Given the description of an element on the screen output the (x, y) to click on. 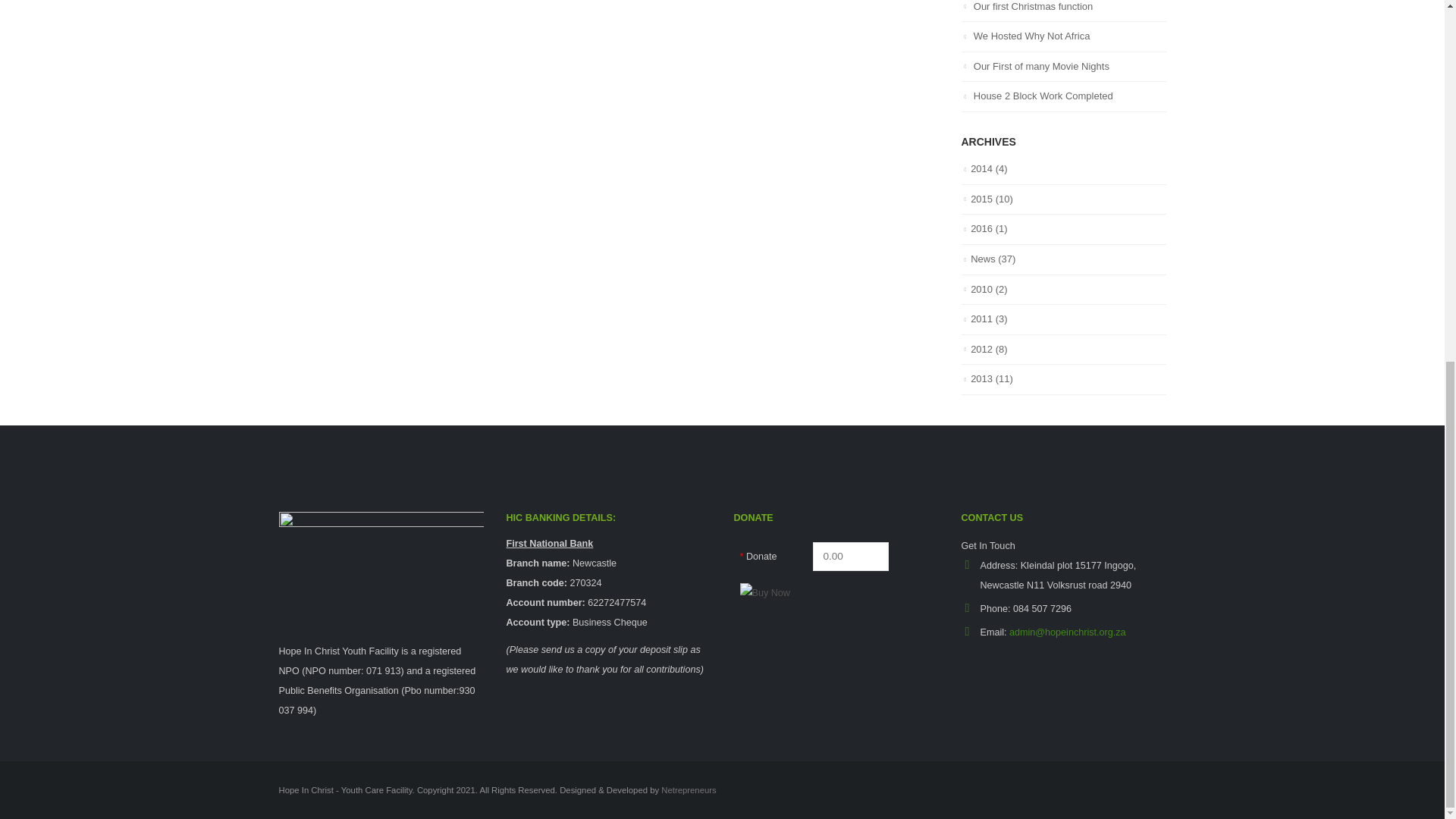
0.00 (850, 556)
Buy Now with PayFast (815, 592)
